Given the description of an element on the screen output the (x, y) to click on. 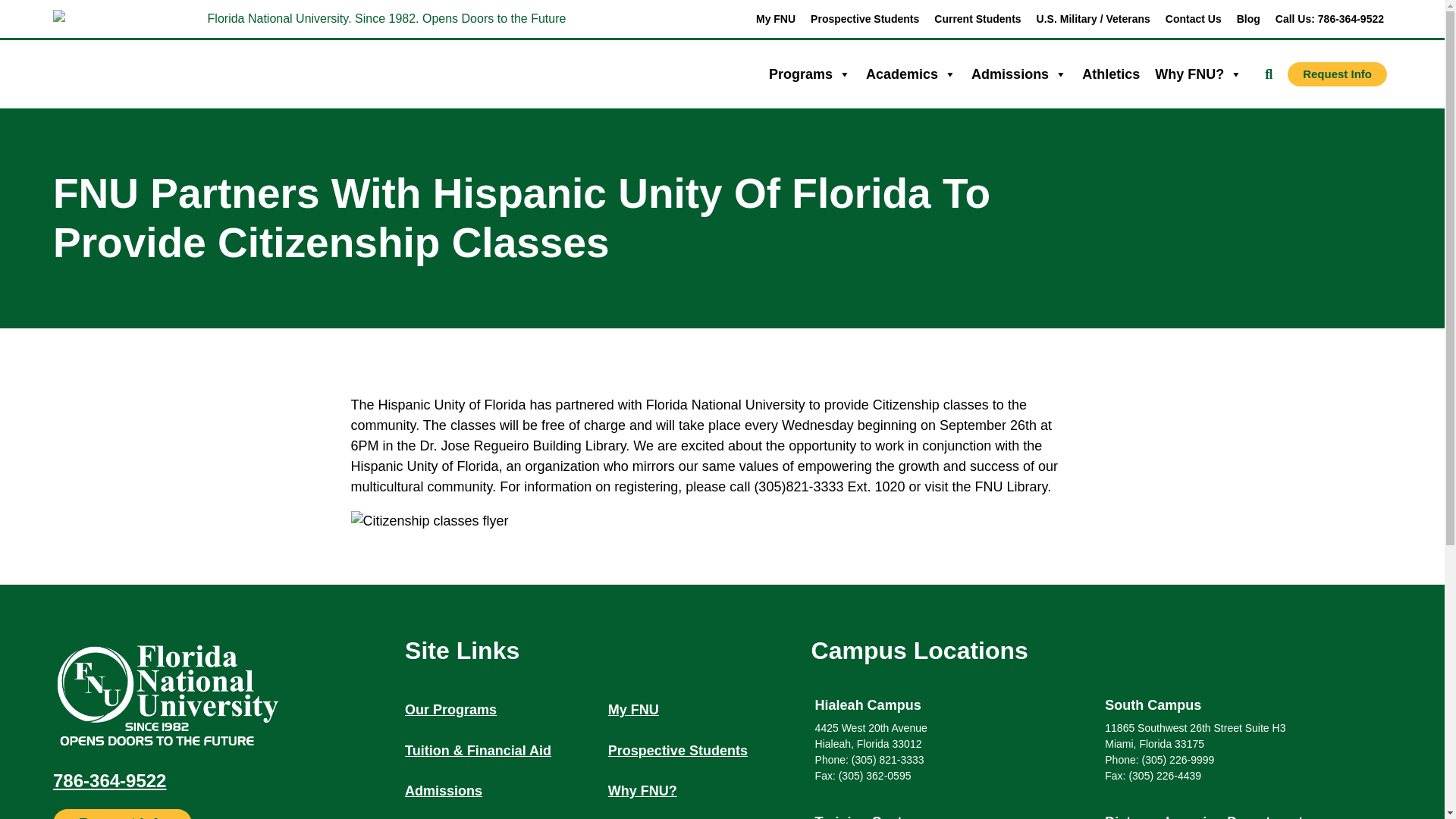
My FNU (775, 18)
Academics (911, 74)
Call Us: 786-364-9522 (1329, 18)
Blog (1248, 18)
Programs (809, 74)
Prospective Students (864, 18)
Contact Us (1192, 18)
Current Students (976, 18)
